Given the description of an element on the screen output the (x, y) to click on. 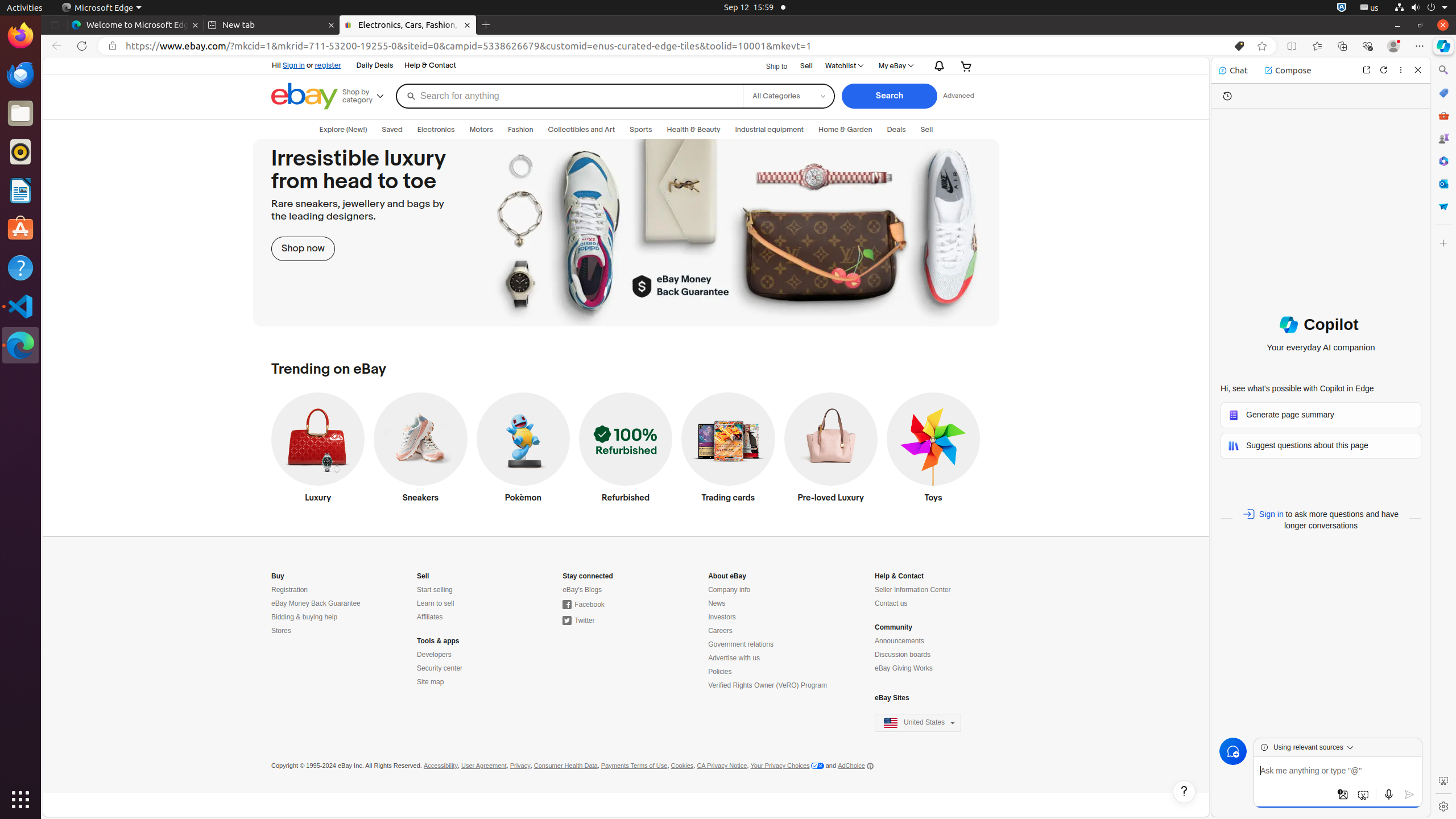
Tools Element type: push-button (1443, 115)
Payments Terms of Use Element type: link (633, 765)
Chat Element type: page-tab (1232, 70)
Help, opens dialogs Element type: push-button (1183, 791)
Submit Element type: push-button (1409, 794)
